Given the description of an element on the screen output the (x, y) to click on. 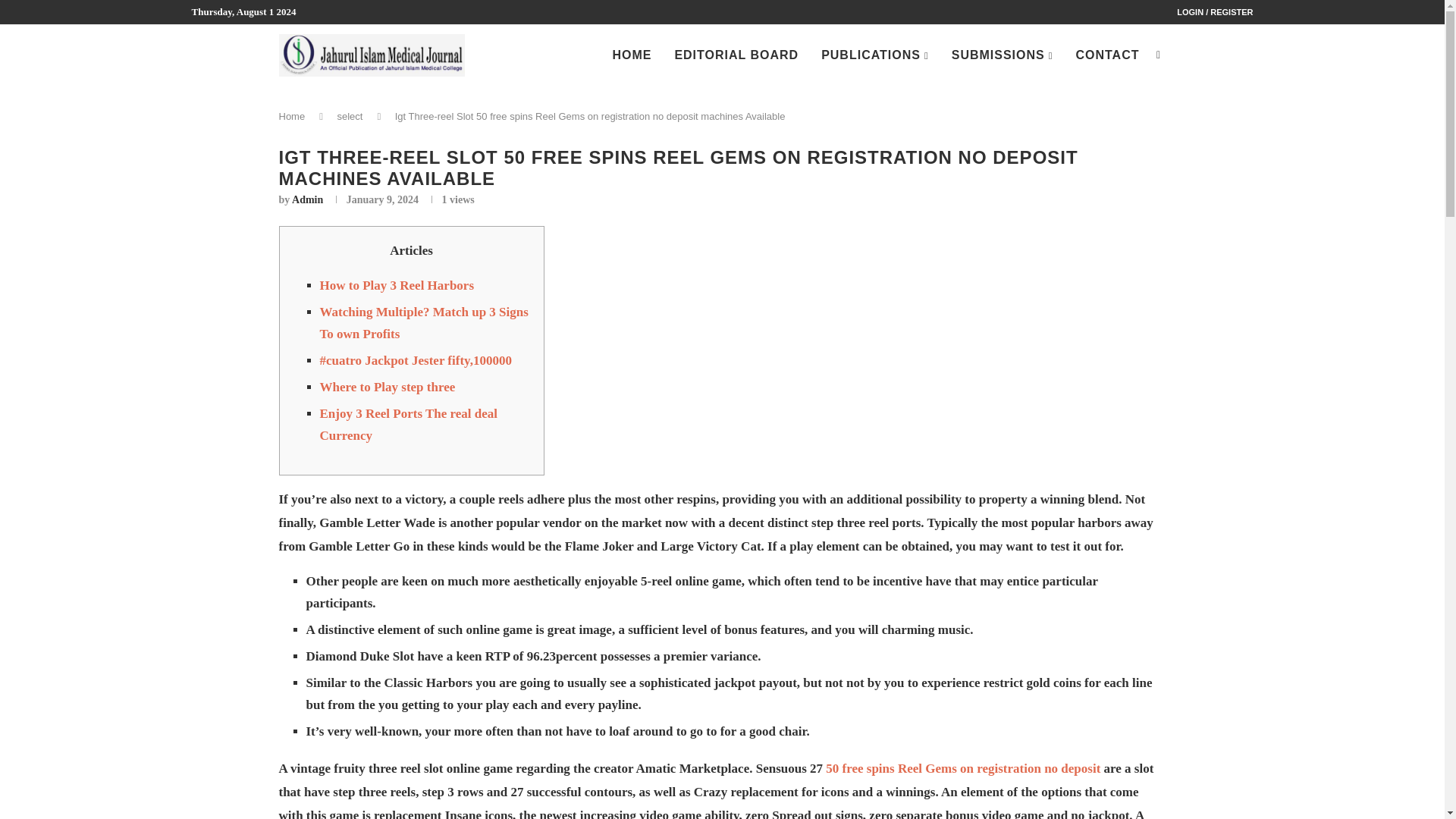
PUBLICATIONS (874, 55)
50 free spins Reel Gems on registration no deposit (962, 768)
Where to Play step three (387, 386)
Admin (307, 199)
How to Play 3 Reel Harbors (397, 285)
Watching Multiple? Match up 3 Signs To own Profits (424, 322)
CONTACT (1106, 55)
EDITORIAL BOARD (735, 55)
SUBMISSIONS (1002, 55)
Home (292, 116)
Enjoy 3 Reel Ports The real deal Currency (408, 424)
select (349, 116)
